Given the description of an element on the screen output the (x, y) to click on. 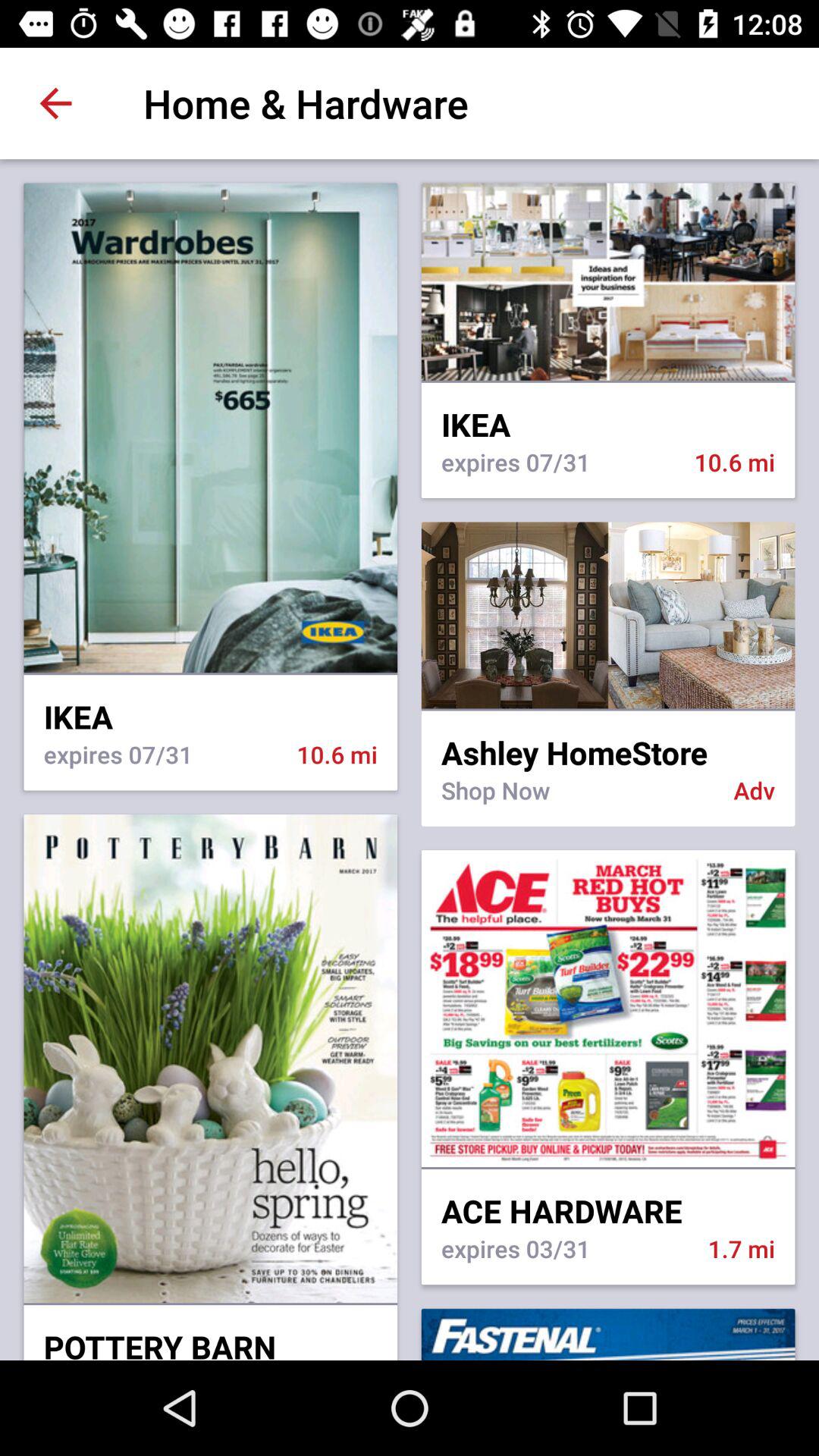
press the icon below ashley homestore (577, 800)
